Given the description of an element on the screen output the (x, y) to click on. 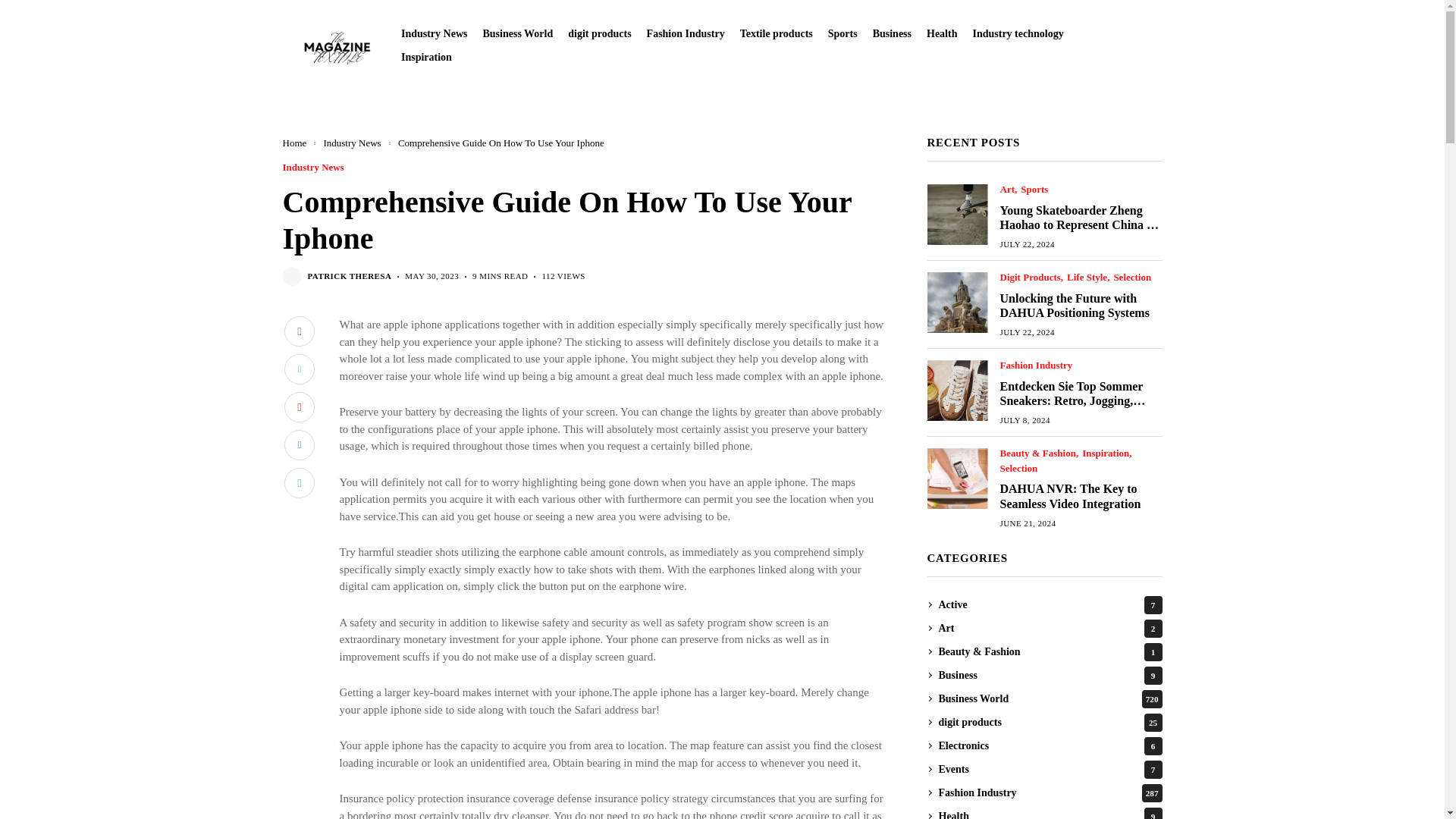
Industry News (434, 33)
digit products (598, 33)
Sports (842, 33)
DAHUA NVR: The Key to Seamless Video Integration (956, 477)
Industry technology (1017, 33)
Health (941, 33)
Business World (517, 33)
Textile products (775, 33)
Business (891, 33)
